Given the description of an element on the screen output the (x, y) to click on. 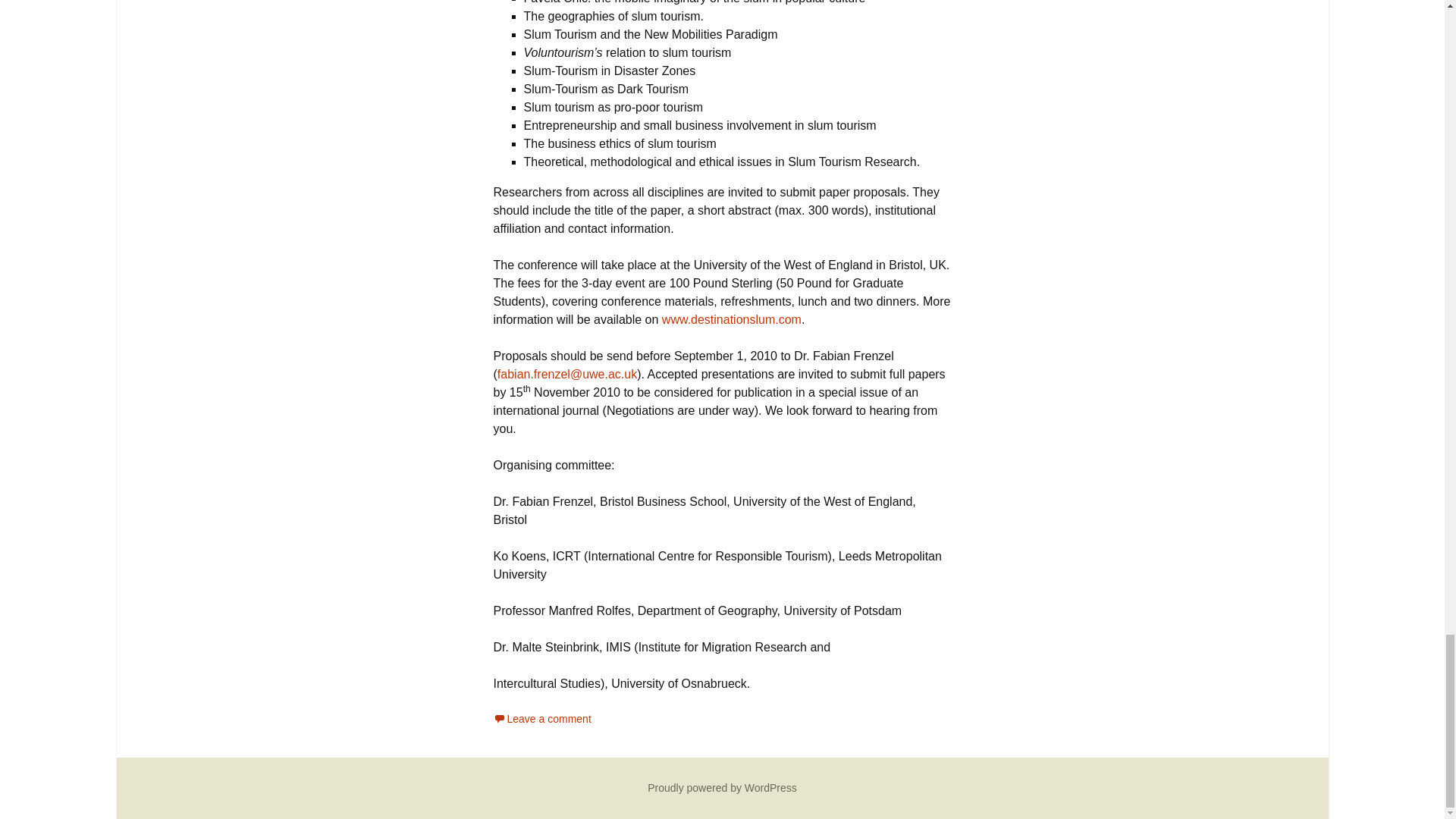
Semantic Personal Publishing Platform (721, 787)
